Given the description of an element on the screen output the (x, y) to click on. 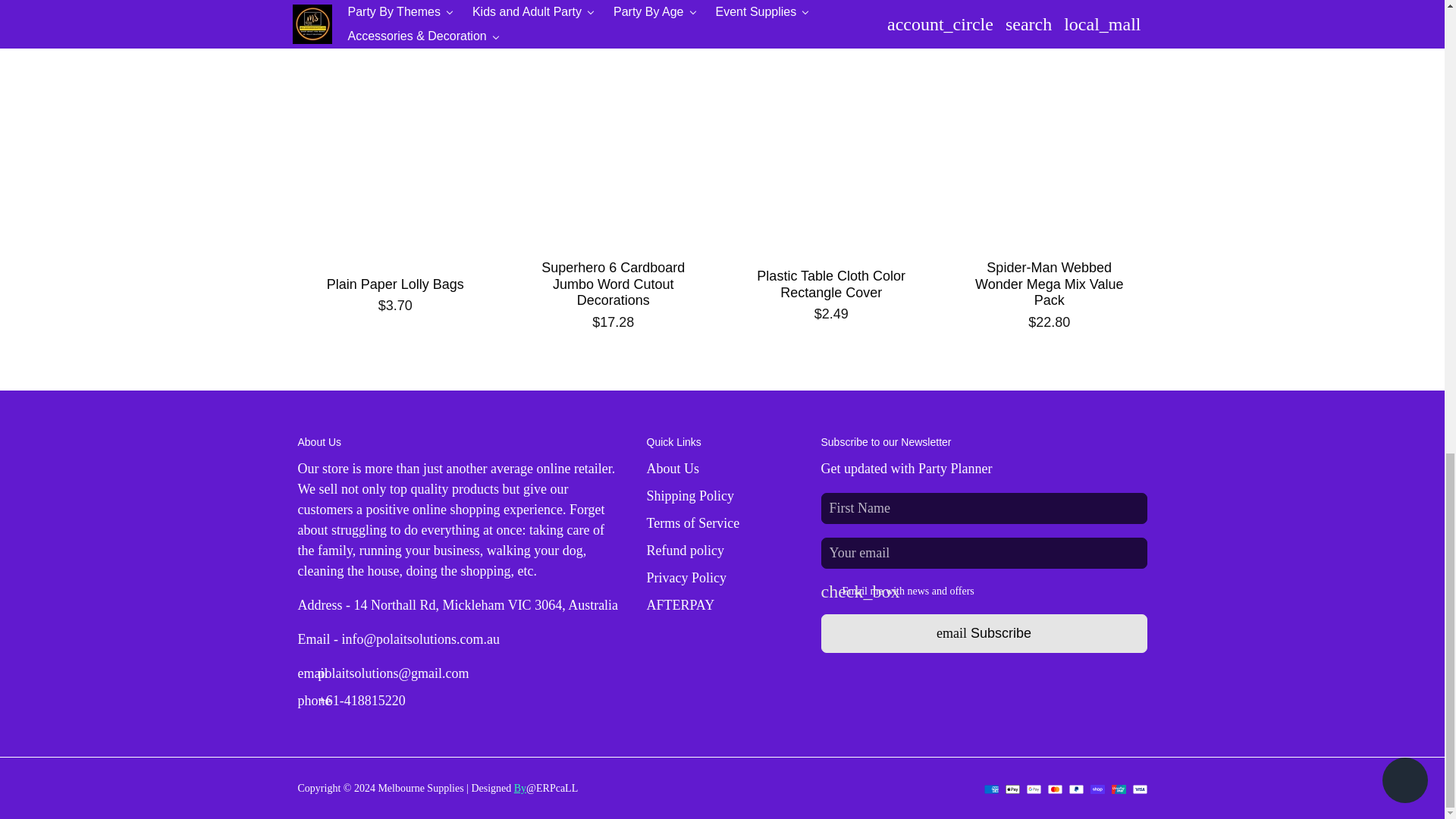
Google Pay (1033, 788)
American Express (991, 788)
Apple Pay (1013, 788)
Shop Pay (1097, 788)
Mastercard (1055, 788)
PayPal (1075, 788)
